Given the description of an element on the screen output the (x, y) to click on. 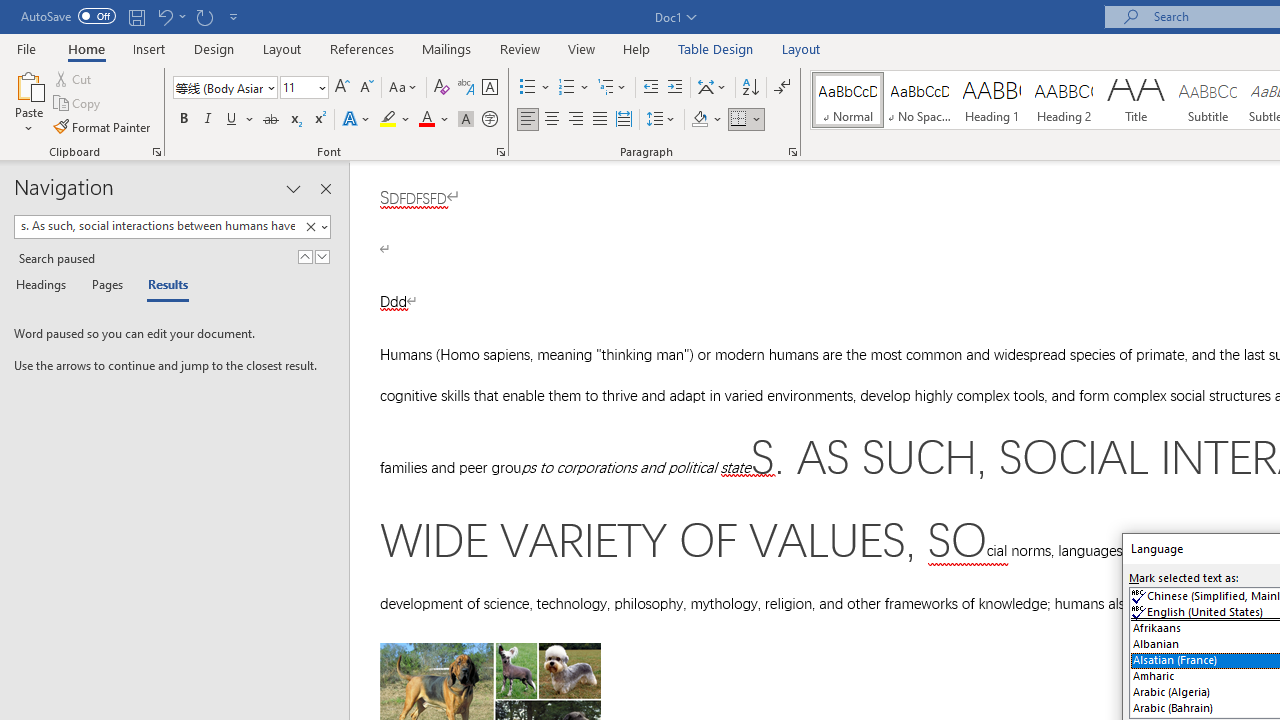
Font (218, 87)
Heading 2 (1063, 100)
Font Color RGB(255, 0, 0) (426, 119)
Insert (149, 48)
Heading 1 (991, 100)
Copy (78, 103)
Character Shading (465, 119)
Pages (105, 285)
Shading (706, 119)
Superscript (319, 119)
Font Size (297, 87)
Strikethrough (270, 119)
AutoSave (68, 16)
Multilevel List (613, 87)
Italic (207, 119)
